Given the description of an element on the screen output the (x, y) to click on. 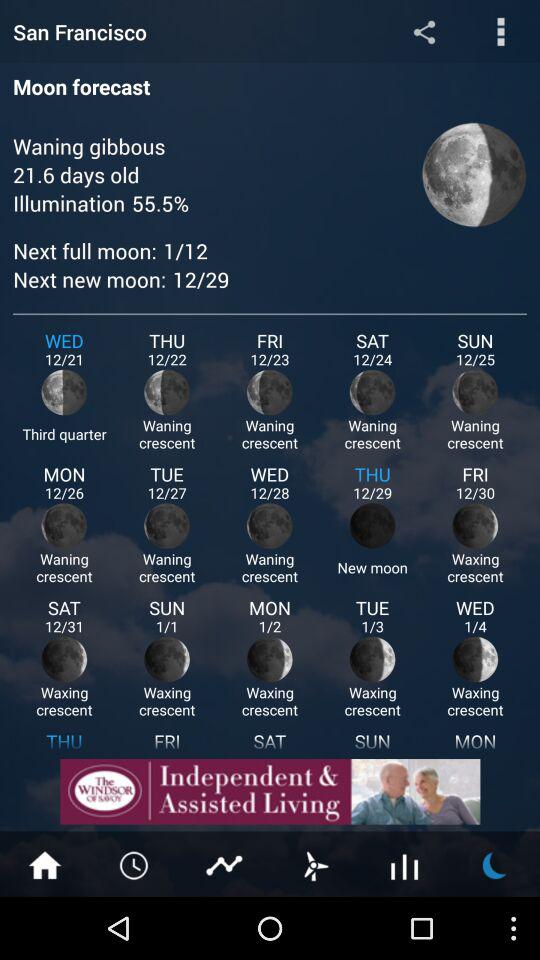
advertisement (270, 791)
